Given the description of an element on the screen output the (x, y) to click on. 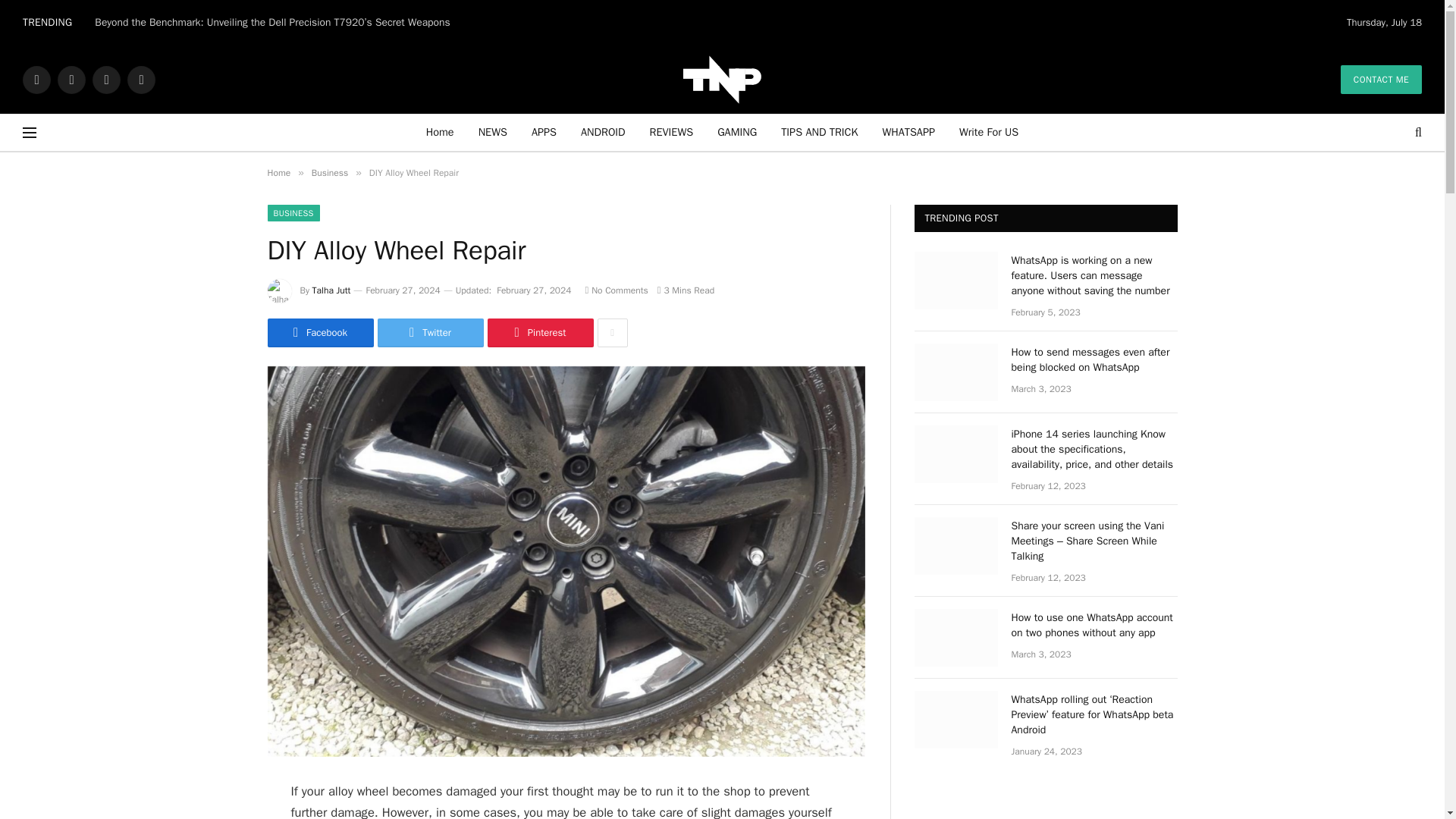
TIPS AND TRICK (818, 132)
Write For US (988, 132)
Home (439, 132)
Posts by Talha Jutt (331, 290)
ANDROID (603, 132)
CONTACT ME (1381, 79)
TechNewzTOP (722, 79)
Share on Pinterest (539, 332)
APPS (544, 132)
REVIEWS (671, 132)
Show More Social Sharing (611, 332)
WhatsApp (141, 79)
Instagram (106, 79)
Facebook (36, 79)
